Given the description of an element on the screen output the (x, y) to click on. 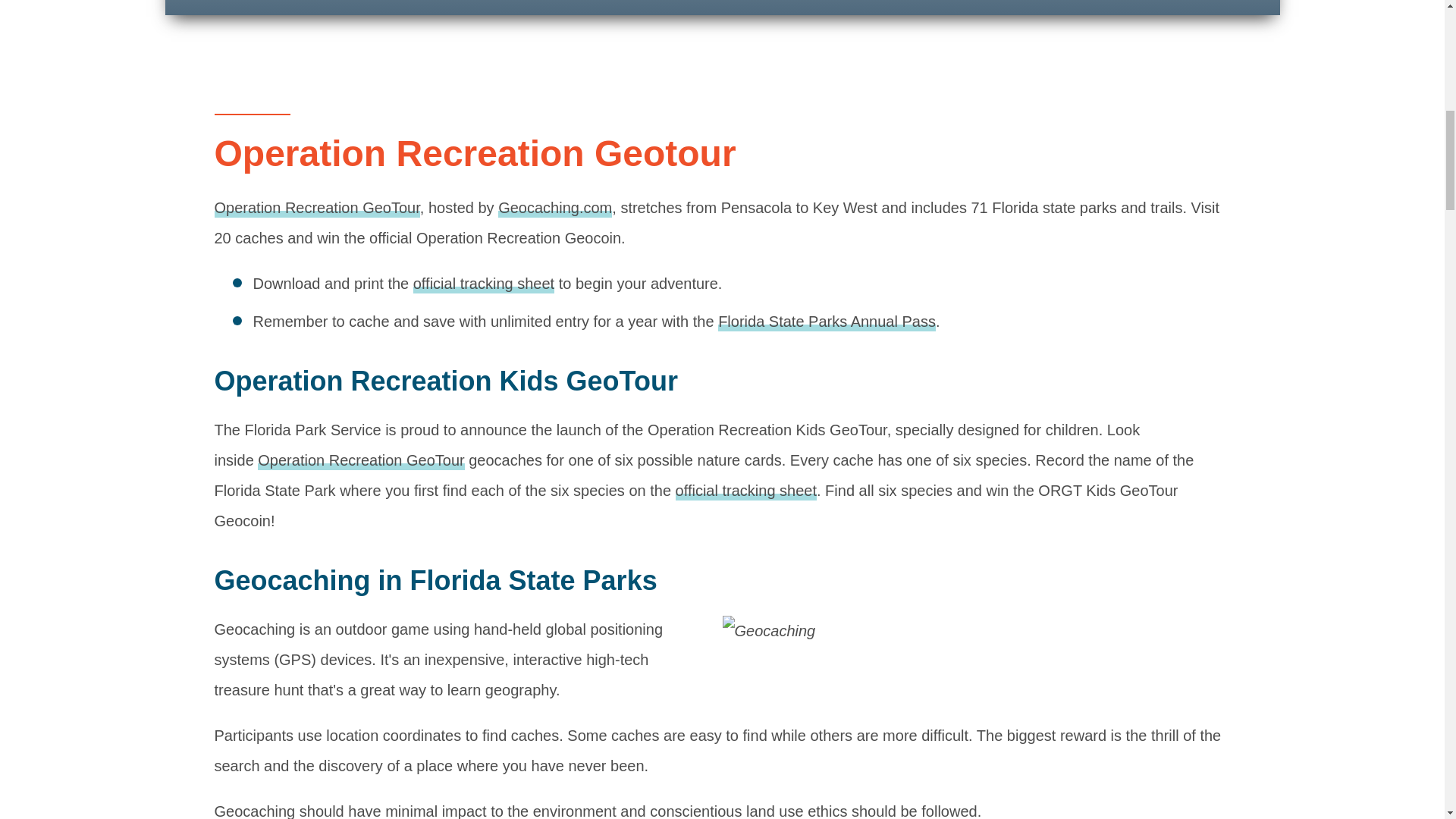
Operation Recreation GeoTour (316, 208)
Florida State Parks Annual Pass (826, 321)
official tracking sheet (483, 284)
Geocaching.com (554, 208)
official tracking sheet (745, 491)
Operation Recreation GeoTour (360, 461)
